Given the description of an element on the screen output the (x, y) to click on. 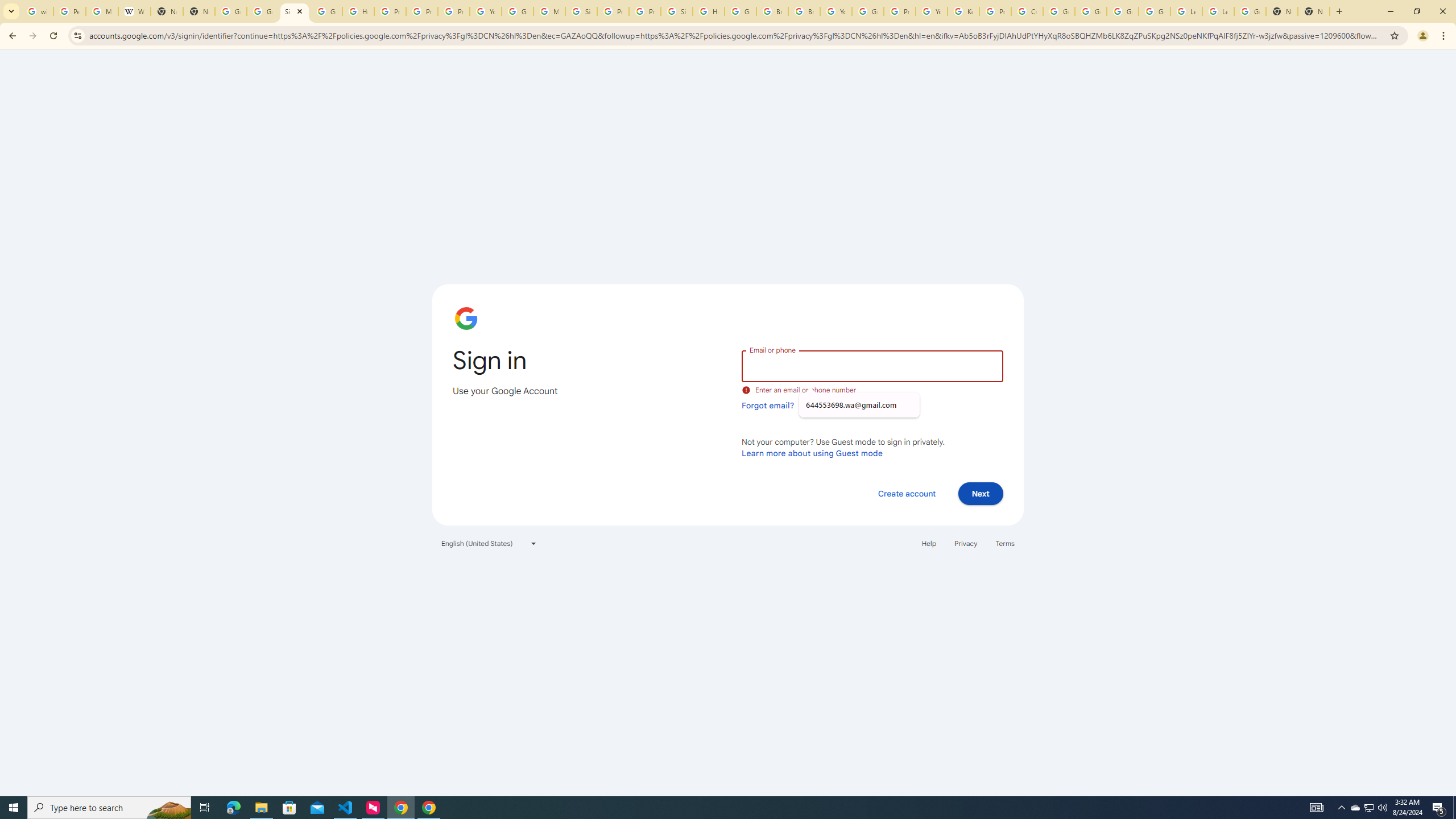
New Tab (1313, 11)
Brand Resource Center (772, 11)
Google Account (1249, 11)
New Tab (1281, 11)
Google Drive: Sign-in (262, 11)
